Given the description of an element on the screen output the (x, y) to click on. 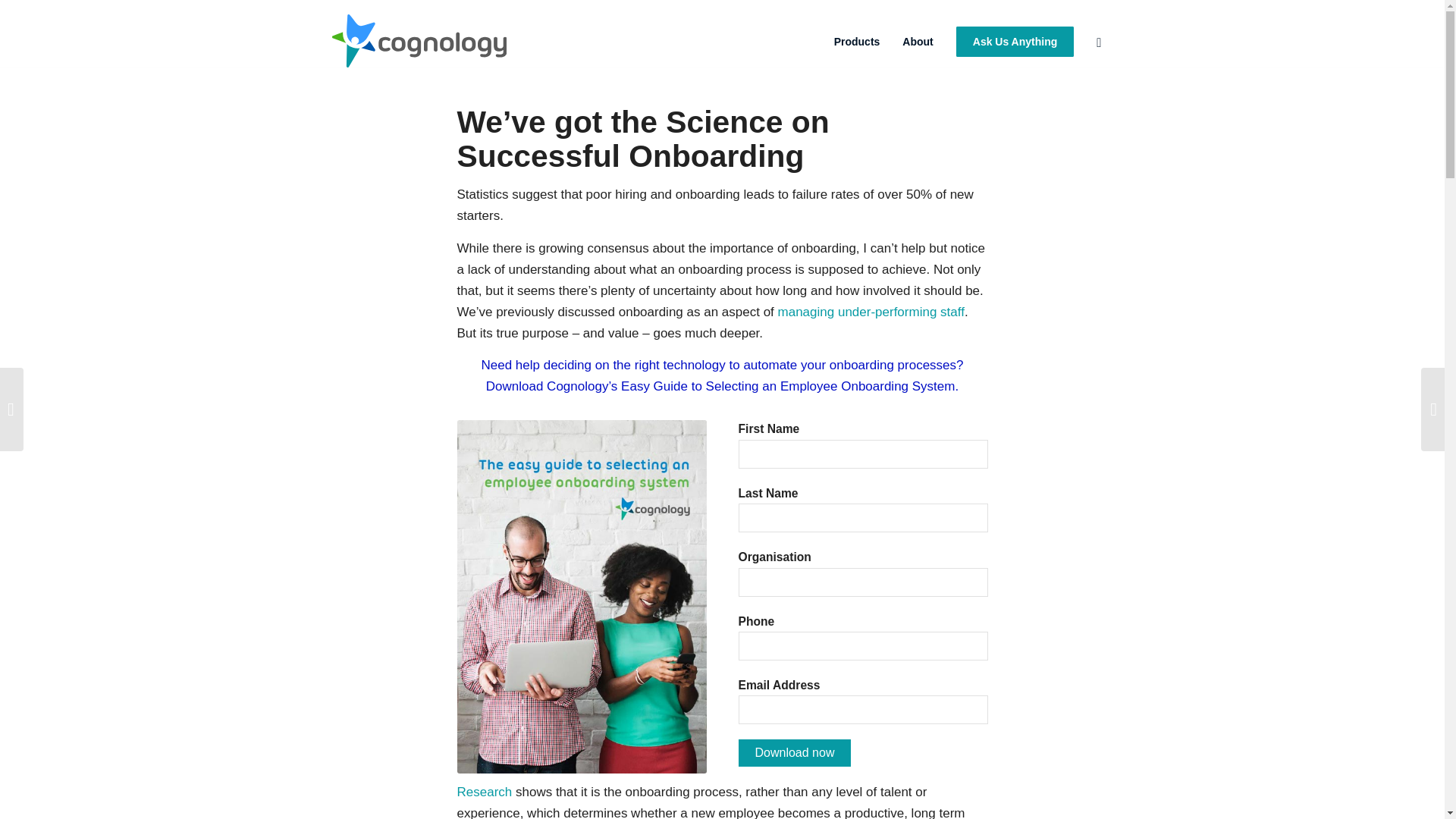
Download now (794, 752)
Products (856, 41)
About (917, 41)
Research (484, 791)
Ask Us Anything (1015, 41)
cognology-logo (418, 40)
Download now (794, 752)
managing under-performing staff (870, 311)
cognology-logo (418, 40)
